Given the description of an element on the screen output the (x, y) to click on. 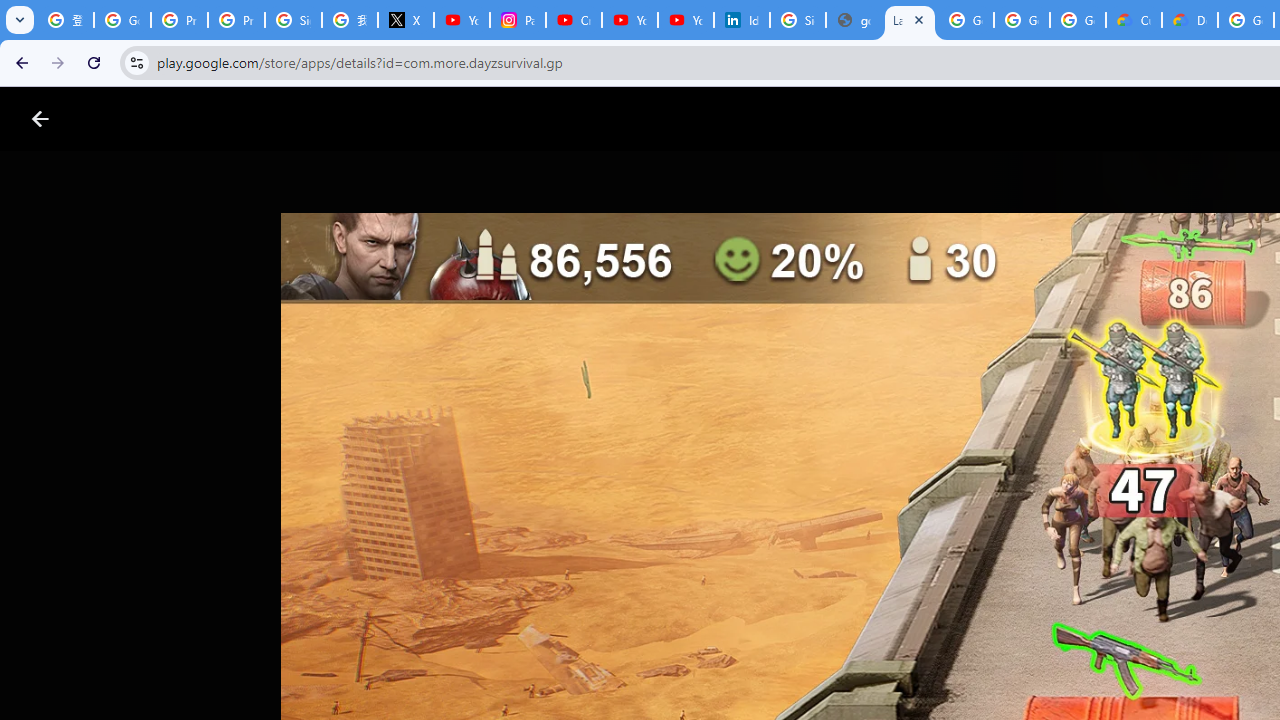
Long Tech Network Limited (734, 602)
Privacy Help Center - Policies Help (179, 20)
Content rating (973, 656)
